Given the description of an element on the screen output the (x, y) to click on. 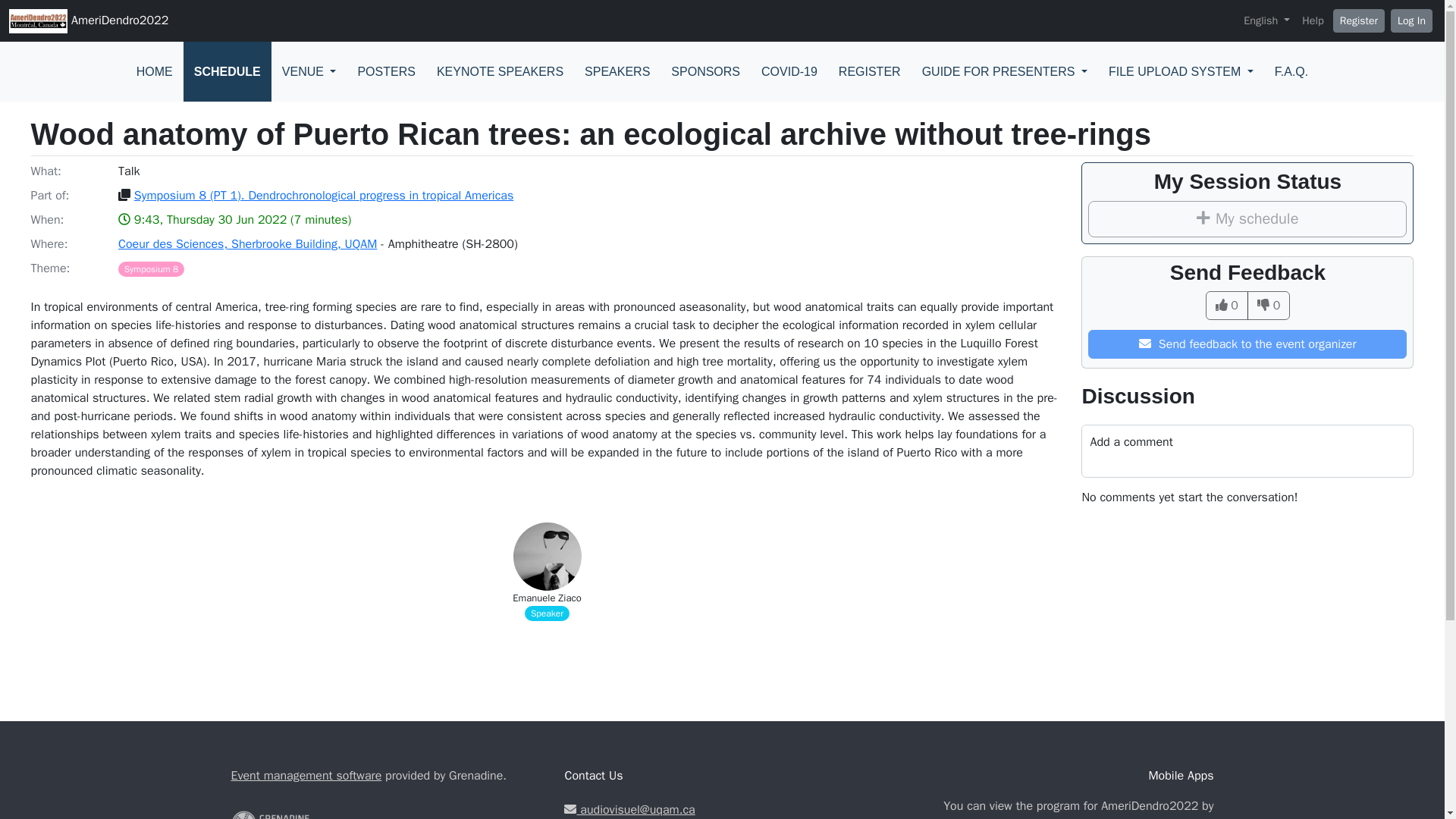
Emanuele Ziaco (546, 598)
SCHEDULE (226, 71)
SPEAKERS (617, 71)
HOME (154, 71)
Coeur des Sciences, Sherbrooke Building, UQAM (247, 243)
Register (1358, 20)
REGISTER (869, 71)
POSTERS (385, 71)
Help (1312, 21)
GUIDE FOR PRESENTERS (1004, 71)
